Given the description of an element on the screen output the (x, y) to click on. 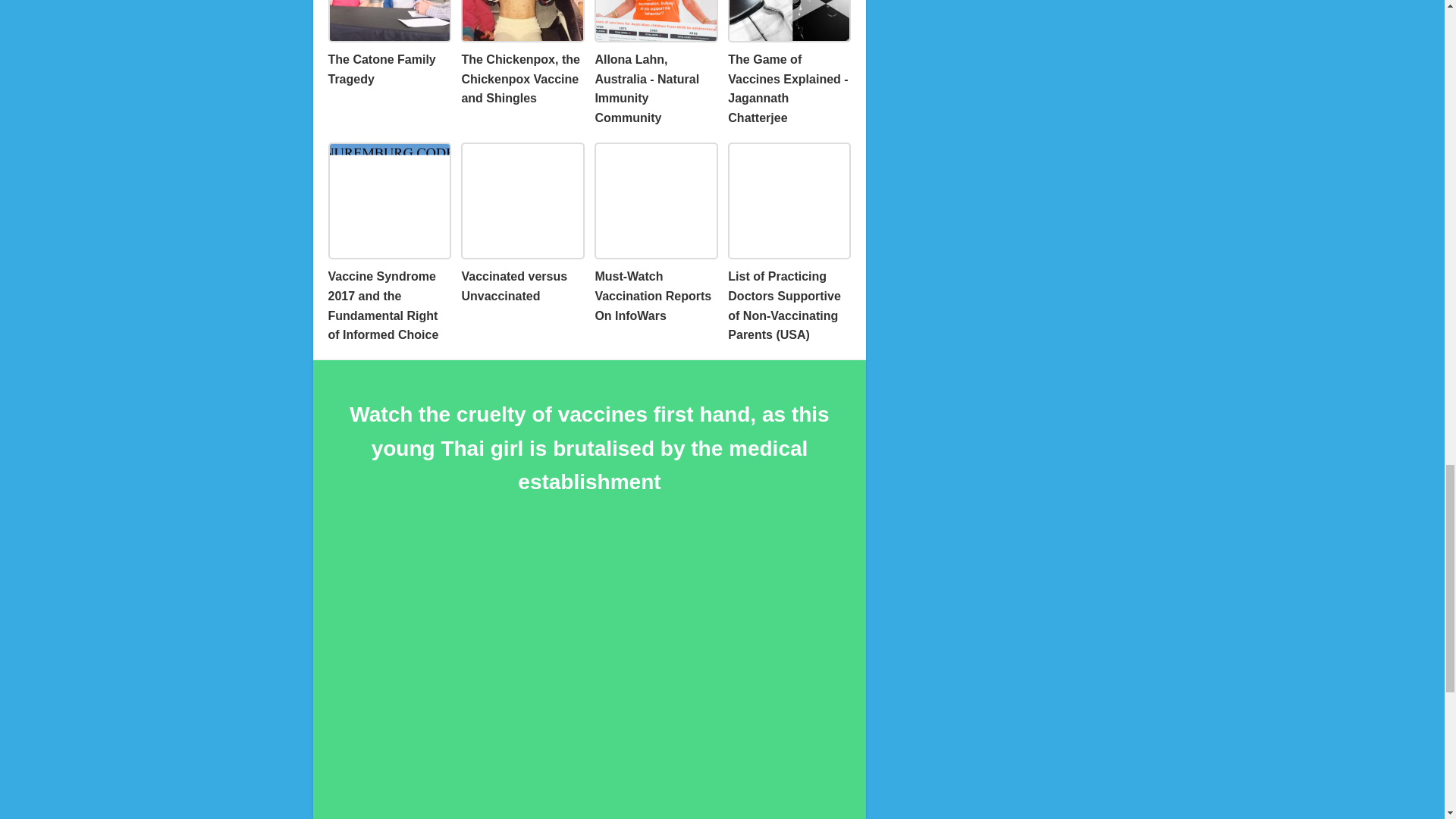
The Chickenpox, the Chickenpox Vaccine and Shingles (522, 54)
The Catone Family Tragedy (388, 44)
The Game of Vaccines Explained - Jagannath Chatterjee (789, 63)
Allona Lahn, Australia - Natural Immunity Community (655, 63)
